Given the description of an element on the screen output the (x, y) to click on. 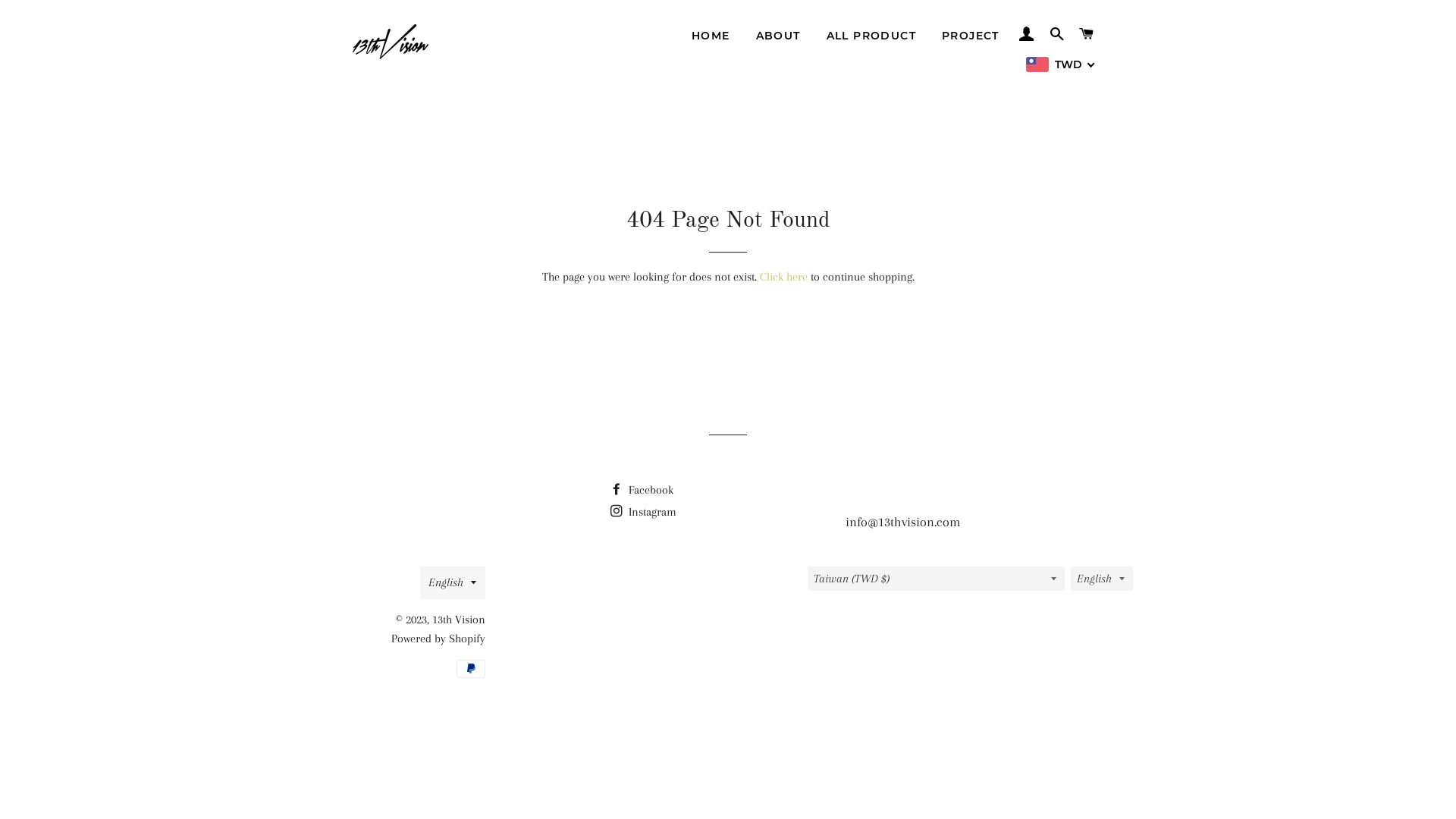
PROJECT Element type: text (970, 36)
Powered by Shopify Element type: text (438, 638)
Instagram Element type: text (643, 511)
English Element type: text (452, 582)
HOME Element type: text (710, 36)
CART Element type: text (1086, 33)
ALL PRODUCT Element type: text (871, 36)
SEARCH Element type: text (1056, 33)
13th Vision Element type: text (458, 619)
Click here Element type: text (783, 276)
Facebook Element type: text (641, 489)
LOG IN Element type: text (1026, 33)
ABOUT Element type: text (778, 36)
